Given the description of an element on the screen output the (x, y) to click on. 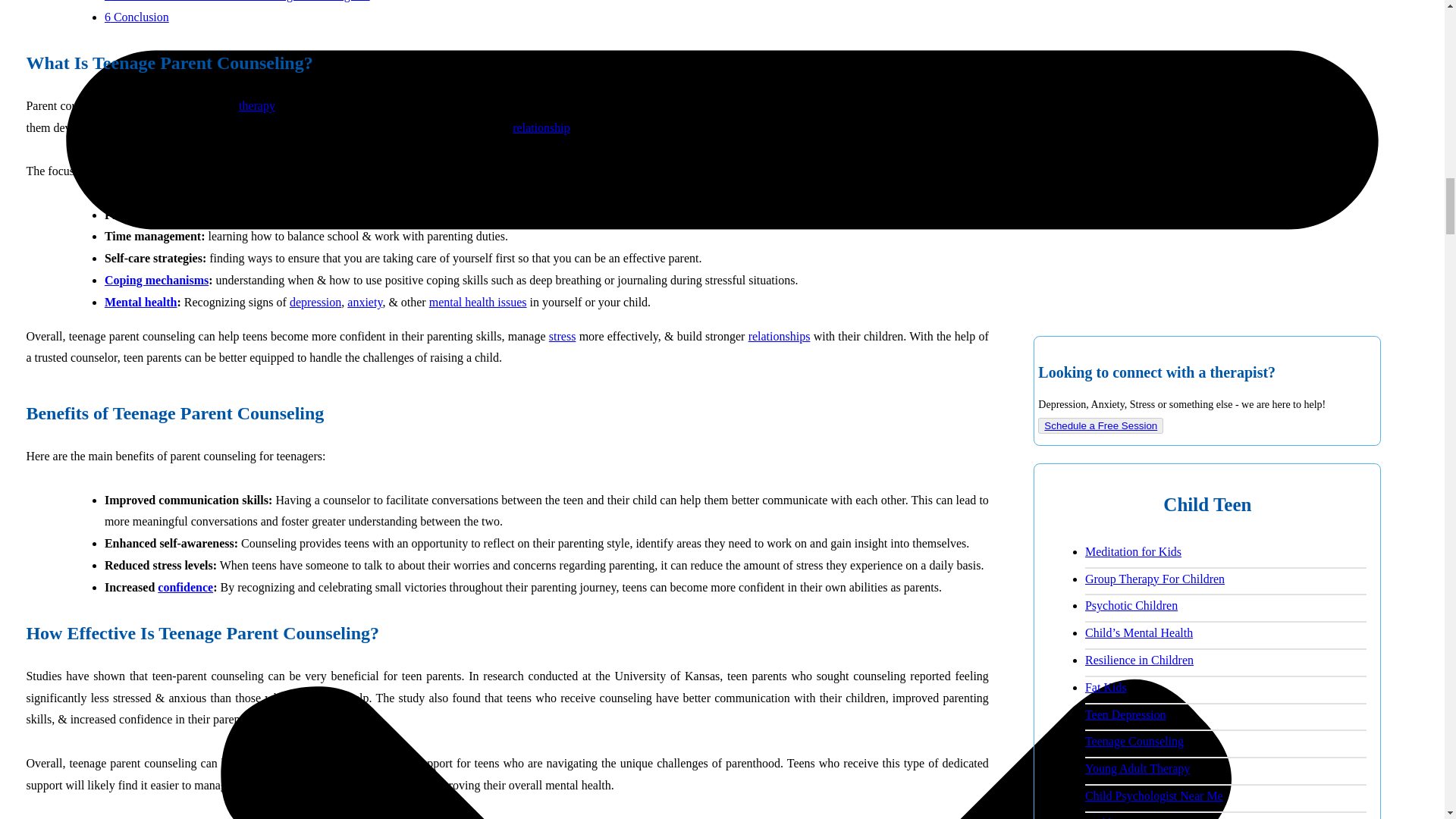
mental health (140, 301)
relationships (779, 335)
mental health issues (478, 301)
anxiety (364, 301)
therapy (256, 105)
Relationship (541, 127)
confidence (184, 586)
Coping Mechanisms (156, 279)
depression (314, 301)
stress (562, 335)
